Given the description of an element on the screen output the (x, y) to click on. 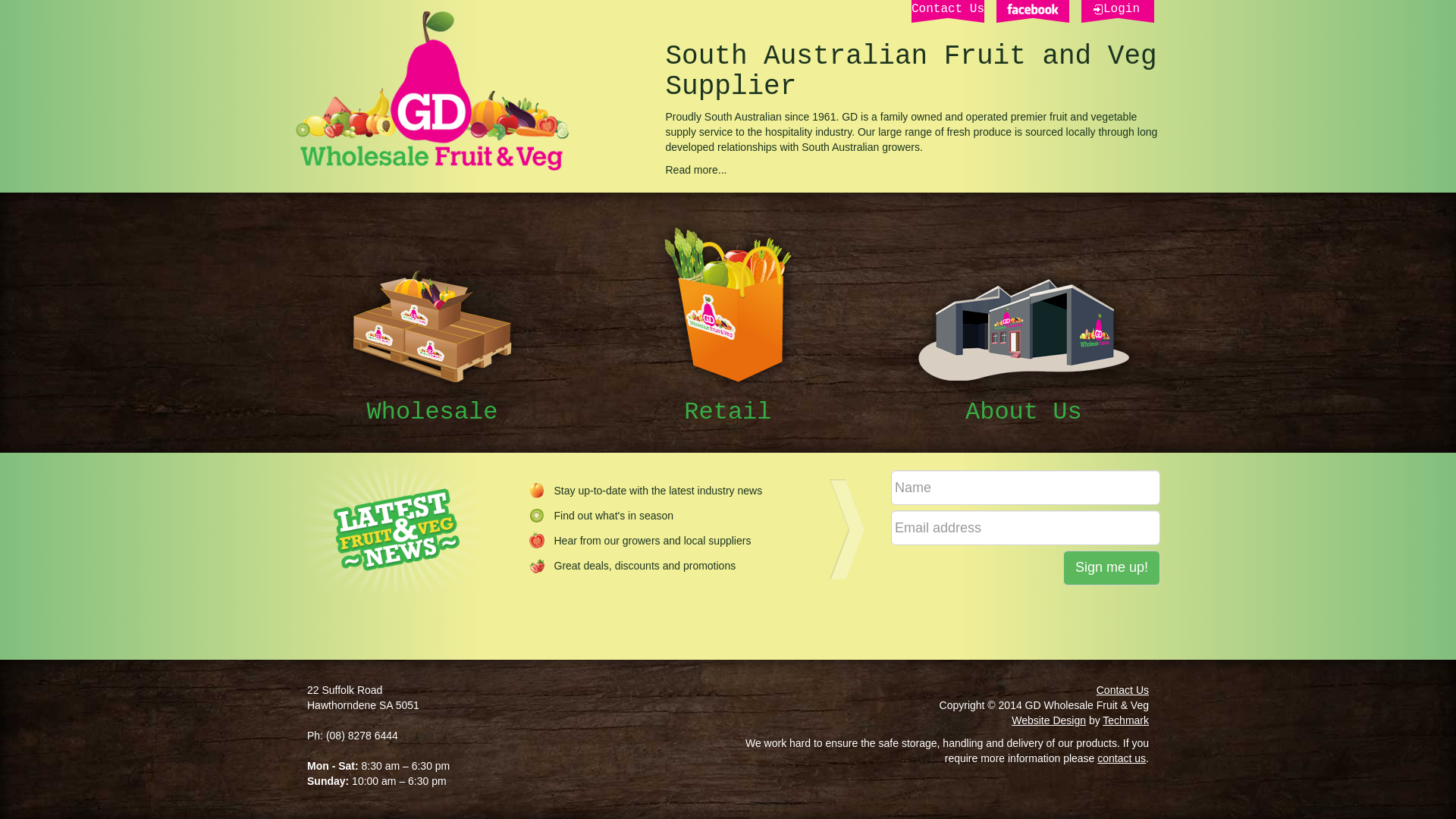
Techmark Element type: text (1125, 720)
Contact Us Element type: text (1122, 690)
Facebook Element type: text (1032, 11)
Sign me up! Element type: text (1111, 567)
About Us Element type: text (1023, 347)
Contact Us Element type: text (947, 11)
contact us Element type: text (1121, 758)
Website Design Element type: text (1048, 720)
Wholesale Element type: text (431, 342)
Login Element type: text (1117, 11)
Retail Element type: text (727, 322)
